Given the description of an element on the screen output the (x, y) to click on. 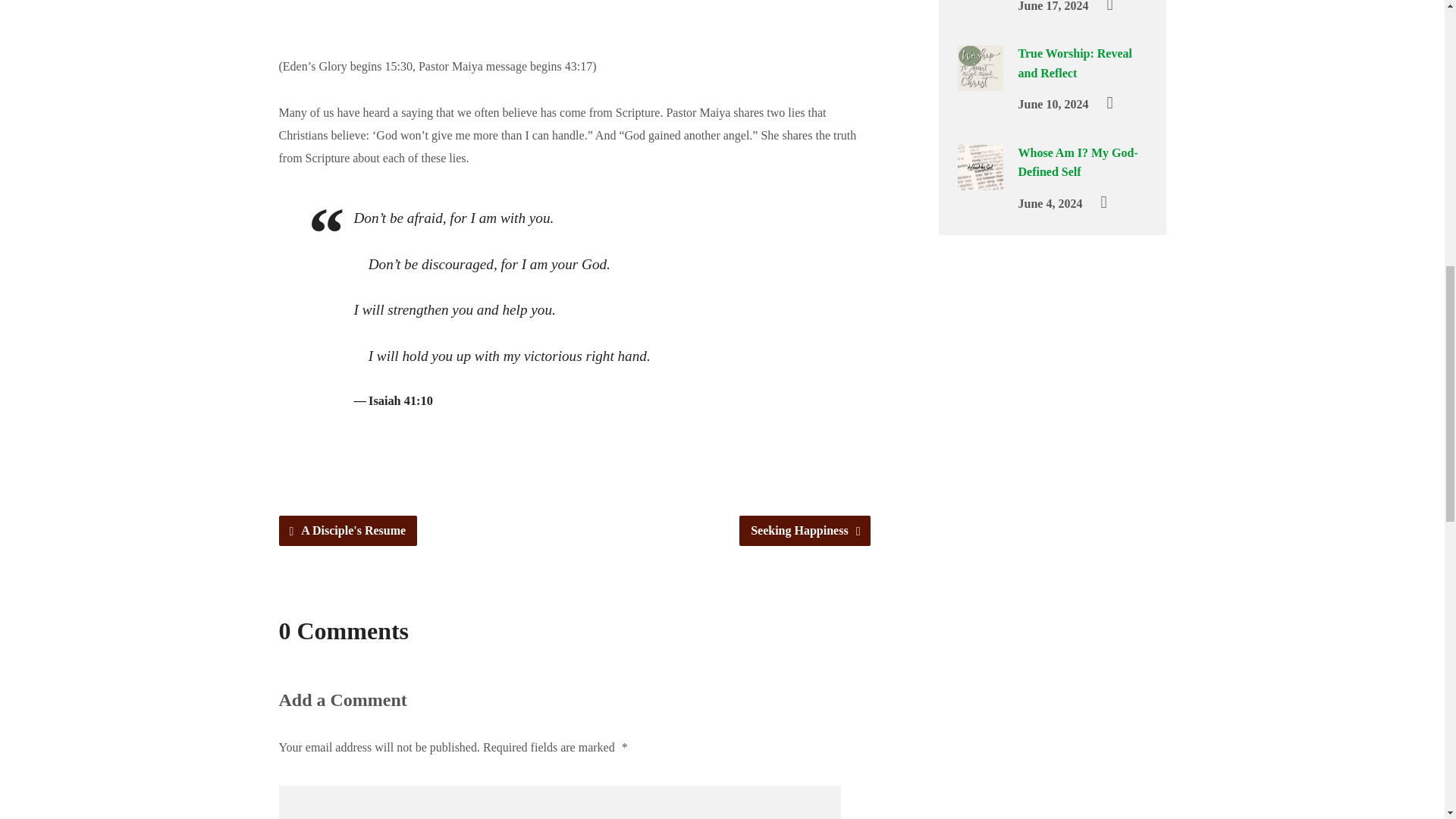
Seeking Happiness (804, 530)
A Disciple's Resume (348, 530)
Watch Video (1109, 6)
True Worship: Reveal and Reflect (979, 80)
Hillside Worship, February 27, 2022 (574, 4)
Watch Video (1109, 102)
Watch Video (1103, 201)
Whose Am I? My God-Defined Self (979, 178)
Whose Am I? My God-Defined Self (1077, 162)
True Worship: Reveal and Reflect (1074, 62)
